Given the description of an element on the screen output the (x, y) to click on. 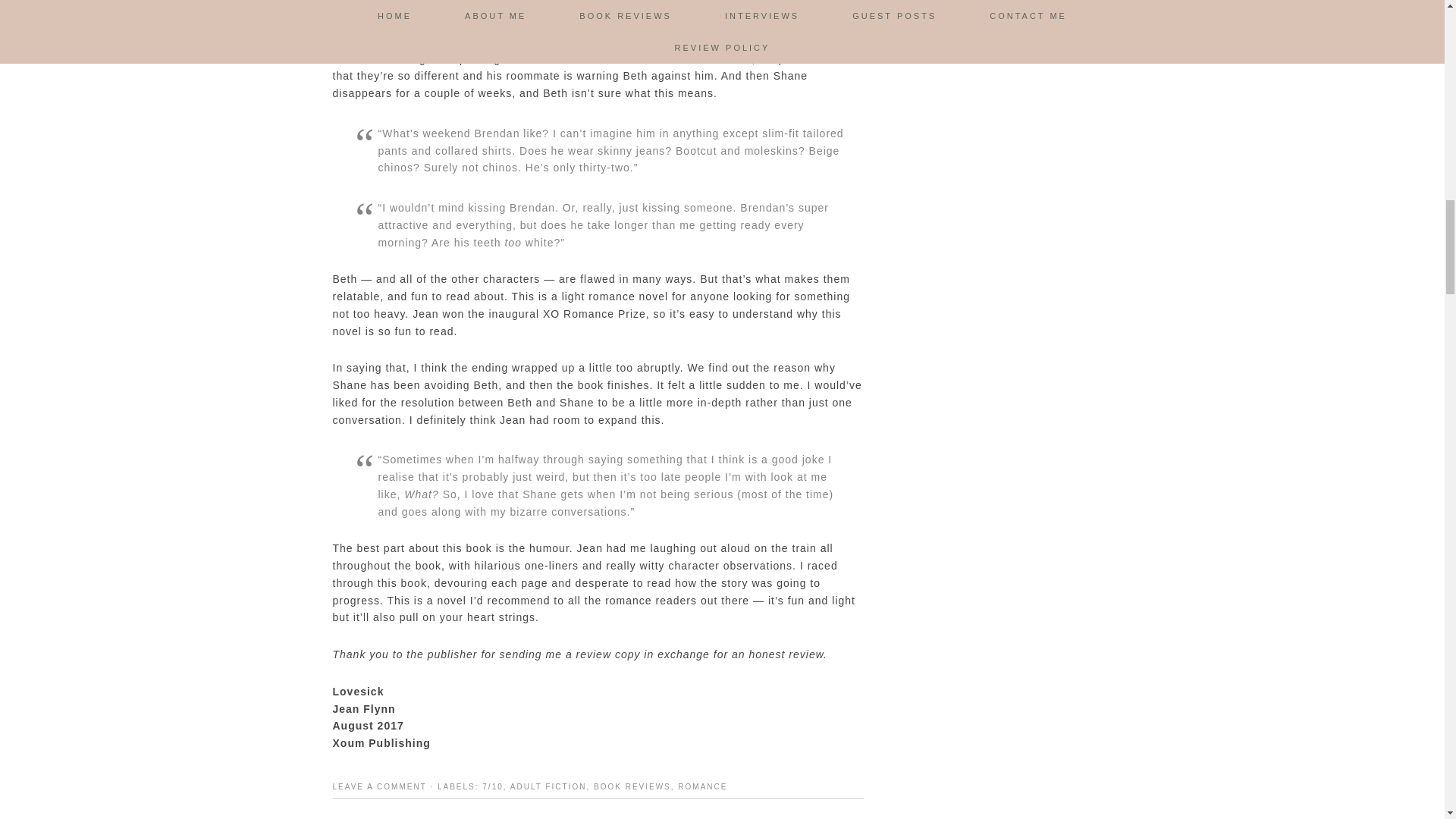
LEAVE A COMMENT (378, 786)
BOOK REVIEWS (632, 786)
ROMANCE (702, 786)
ADULT FICTION (548, 786)
